Given the description of an element on the screen output the (x, y) to click on. 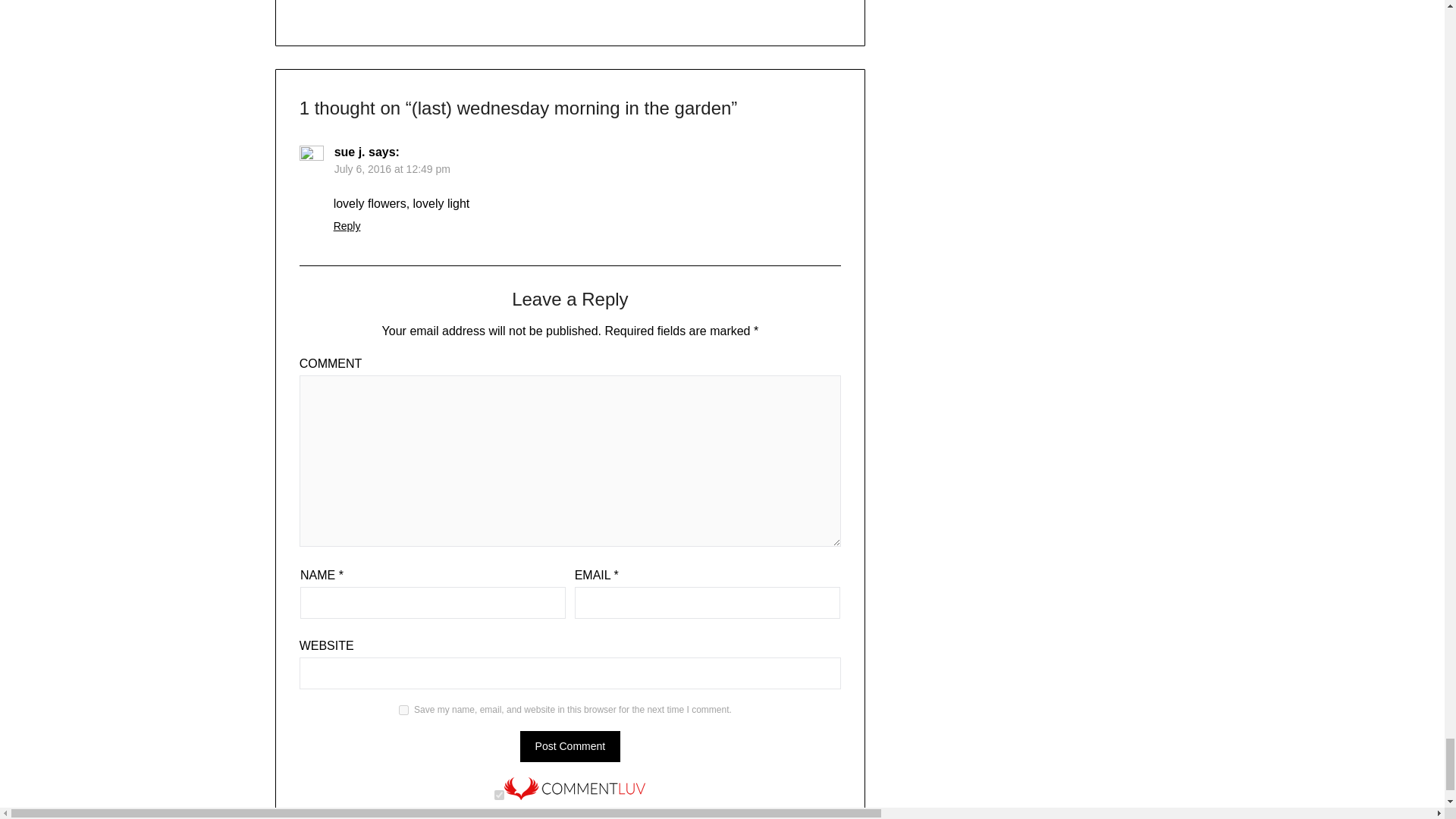
July 6, 2016 at 12:49 pm (391, 168)
yes (403, 709)
on (499, 795)
Reply (347, 225)
Post Comment (570, 746)
